Given the description of an element on the screen output the (x, y) to click on. 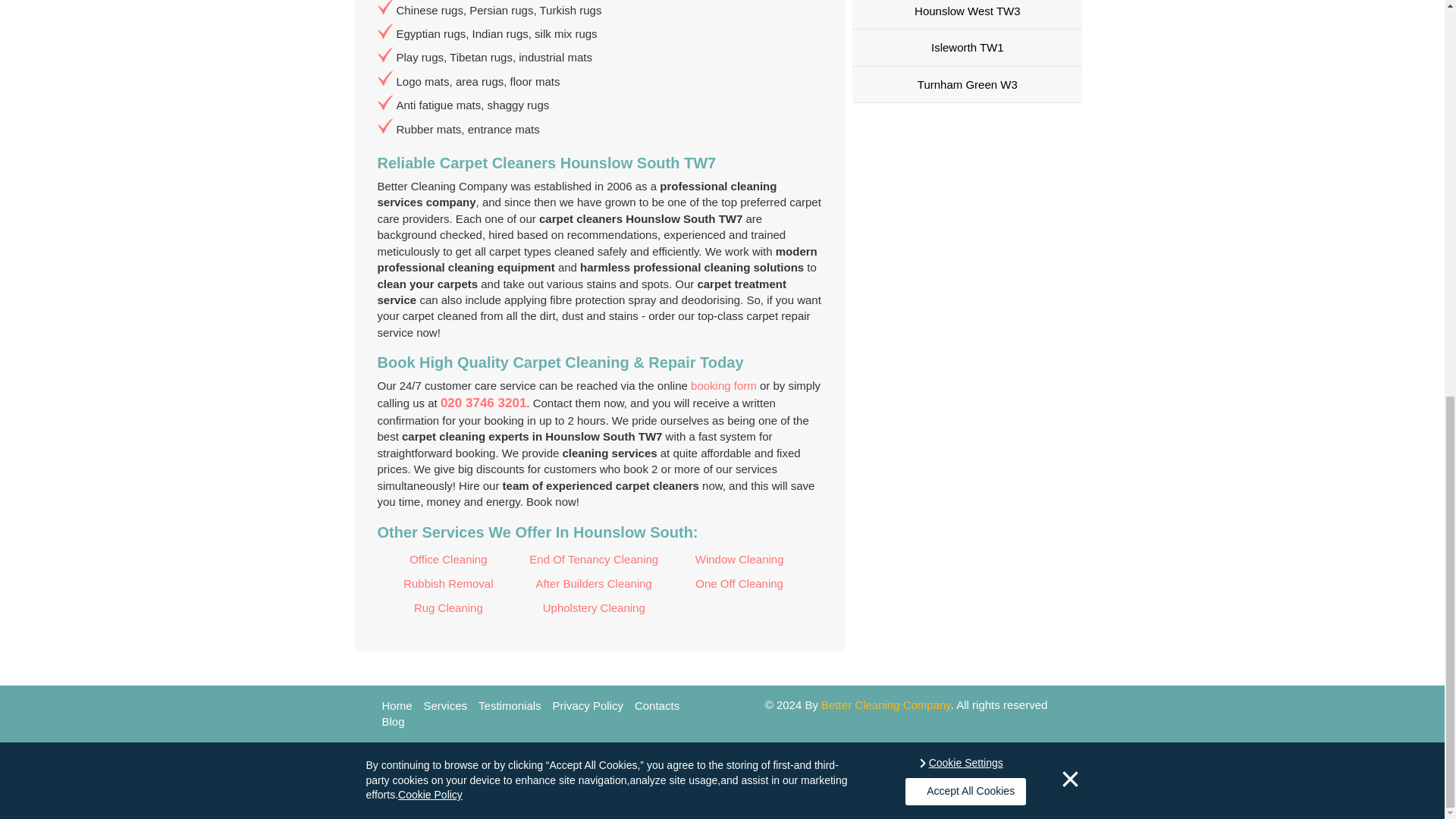
Upholstery Cleaning (593, 607)
Rug Cleaning (448, 607)
020 3746 3201 (483, 402)
One Off Cleaning (739, 583)
Window Cleaning (739, 558)
booking form (723, 385)
Rubbish Removal (448, 583)
End Of Tenancy Cleaning (593, 558)
After Builders Cleaning (593, 583)
Office Cleaning (448, 558)
